Given the description of an element on the screen output the (x, y) to click on. 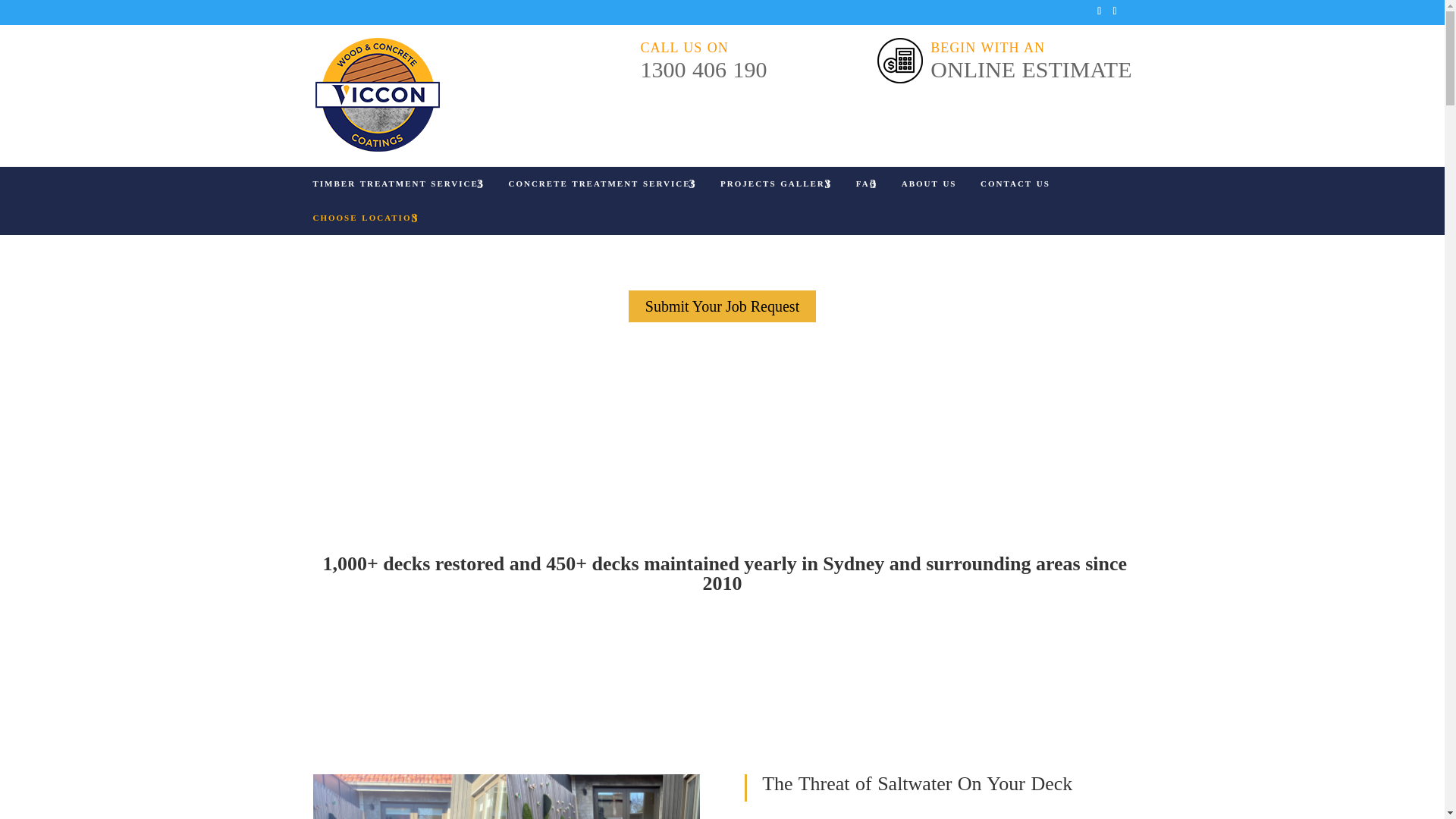
Search (34, 11)
ONLINE ESTIMATE (1030, 68)
1300 406 190 (703, 68)
Location Menu Tab (366, 217)
TIMBER TREATMENT SERVICES (398, 183)
Deck Maintenance Service (505, 796)
